Given the description of an element on the screen output the (x, y) to click on. 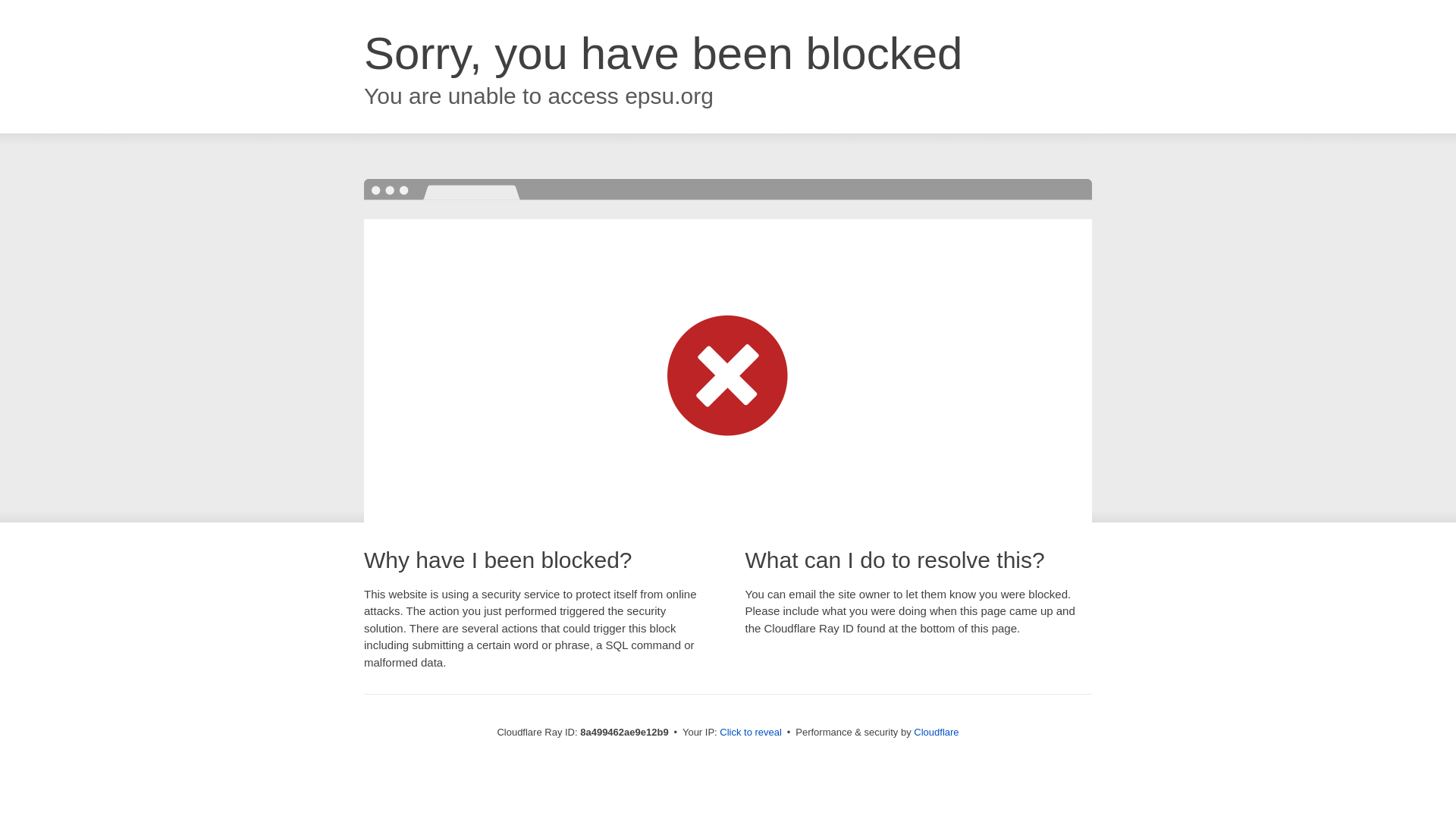
Cloudflare (936, 731)
Click to reveal (750, 732)
